Given the description of an element on the screen output the (x, y) to click on. 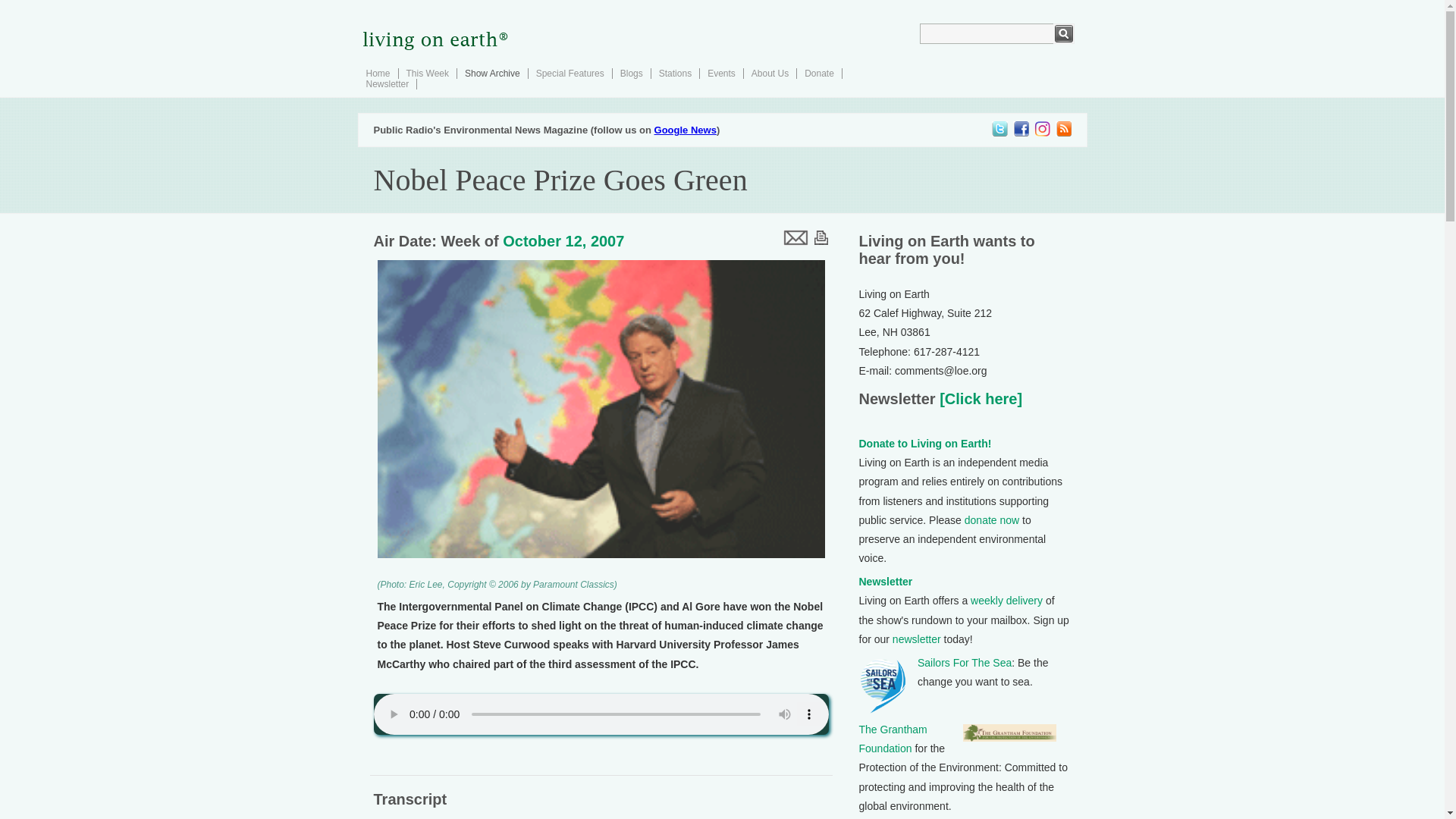
Events (721, 72)
Home (377, 72)
Newsletter (885, 581)
Donate (819, 72)
Google News (684, 129)
About Us (770, 72)
This Week (427, 72)
donate now (991, 520)
email (794, 236)
Stations (675, 72)
Blogs (631, 72)
Newsletter (387, 83)
Special Features (569, 72)
October 12, 2007 (563, 240)
Donate to Living on Earth! (925, 443)
